Given the description of an element on the screen output the (x, y) to click on. 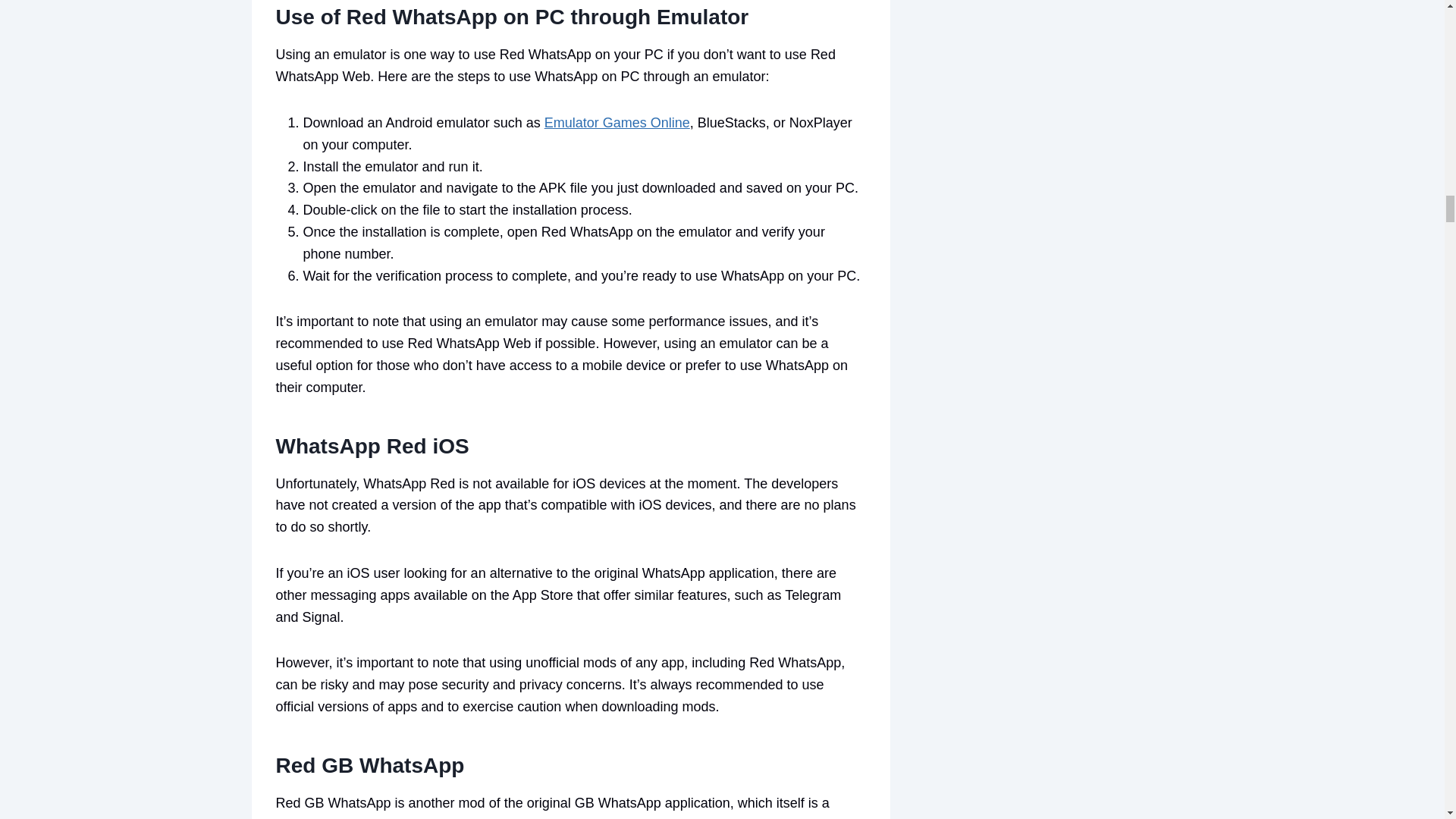
Emulator Games Online (617, 122)
